Given the description of an element on the screen output the (x, y) to click on. 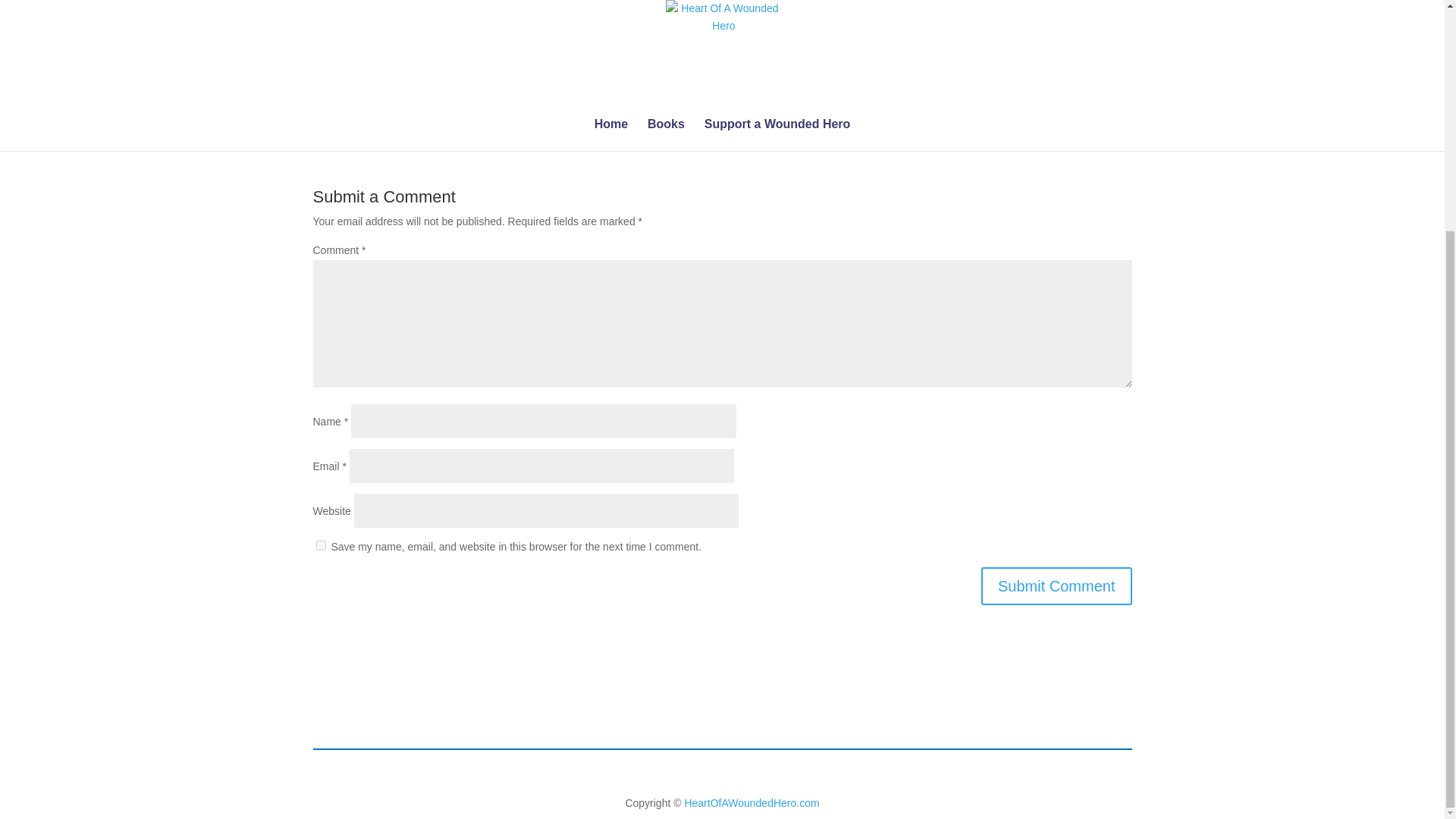
yes (319, 545)
Submit Comment (1056, 586)
HeartOfAWoundedHero.com (751, 802)
Submit Comment (1056, 586)
